Given the description of an element on the screen output the (x, y) to click on. 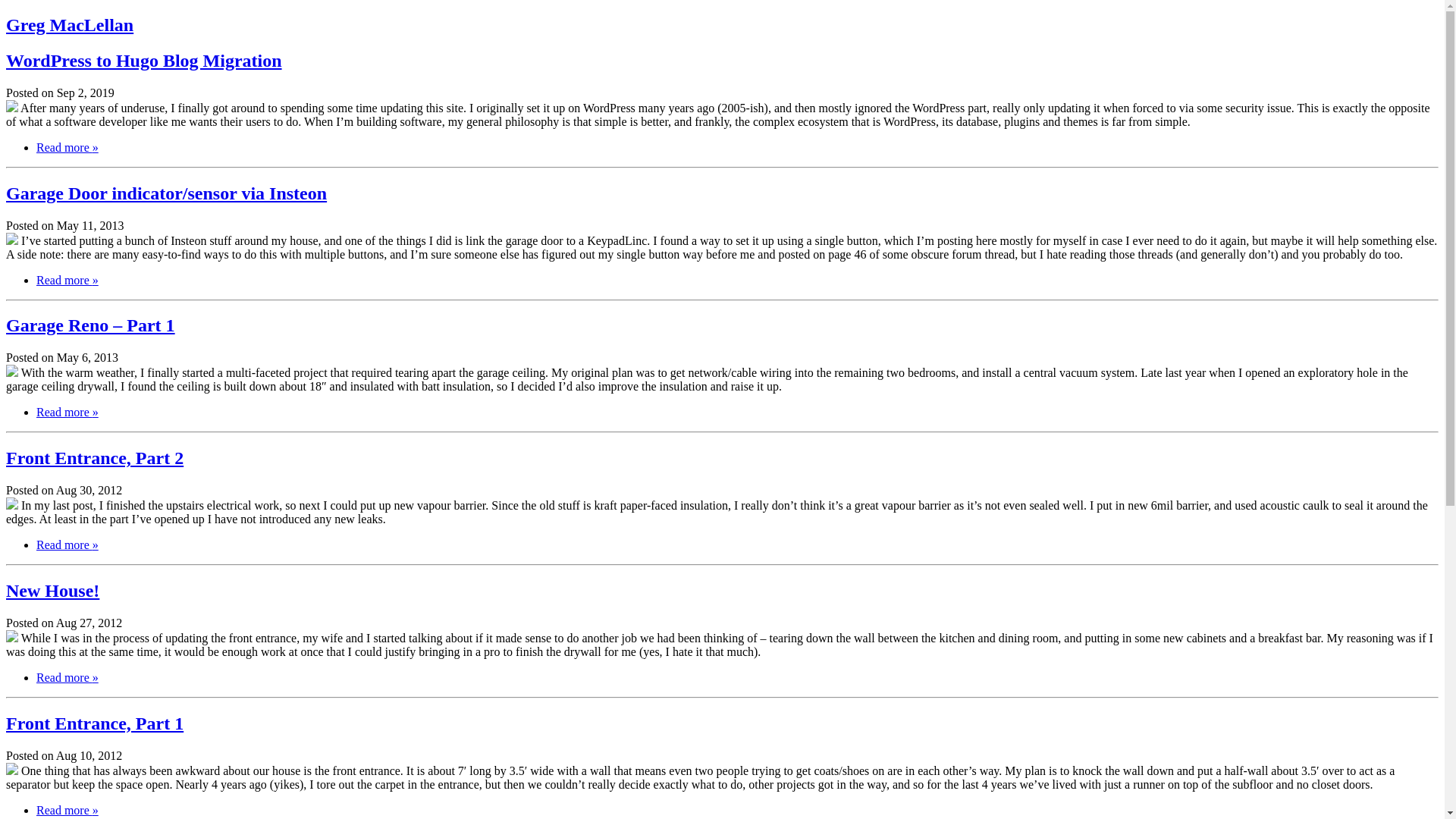
Greg MacLellan (69, 25)
WordPress to Hugo Blog Migration (143, 60)
Front Entrance, Part 2 (94, 457)
New House! (52, 590)
Front Entrance, Part 1 (94, 723)
